Given the description of an element on the screen output the (x, y) to click on. 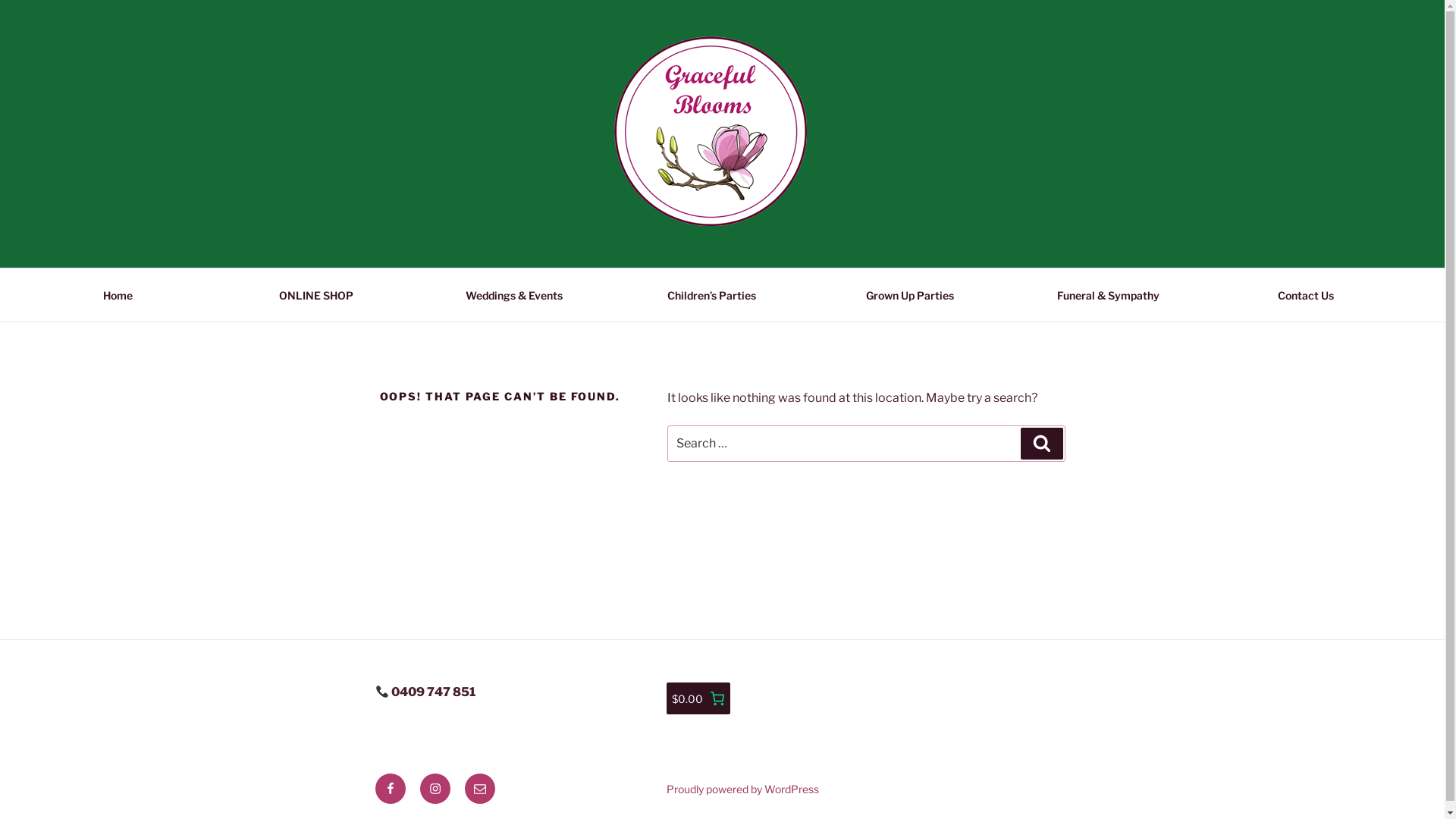
Instagram Element type: text (435, 788)
Proudly powered by WordPress Element type: text (742, 788)
Home Element type: text (117, 294)
Email Element type: text (479, 788)
Contact Us Element type: text (1306, 294)
ONLINE SHOP Element type: text (315, 294)
Funeral & Sympathy Element type: text (1108, 294)
MORTDALE FLORIST | SYDNEY | FREE LOCAL DELIVERY Element type: text (740, 264)
Grown Up Parties Element type: text (910, 294)
Facebook Element type: text (389, 788)
Search Element type: text (1041, 443)
Weddings & Events Element type: text (513, 294)
$0.00 Element type: text (698, 698)
